Given the description of an element on the screen output the (x, y) to click on. 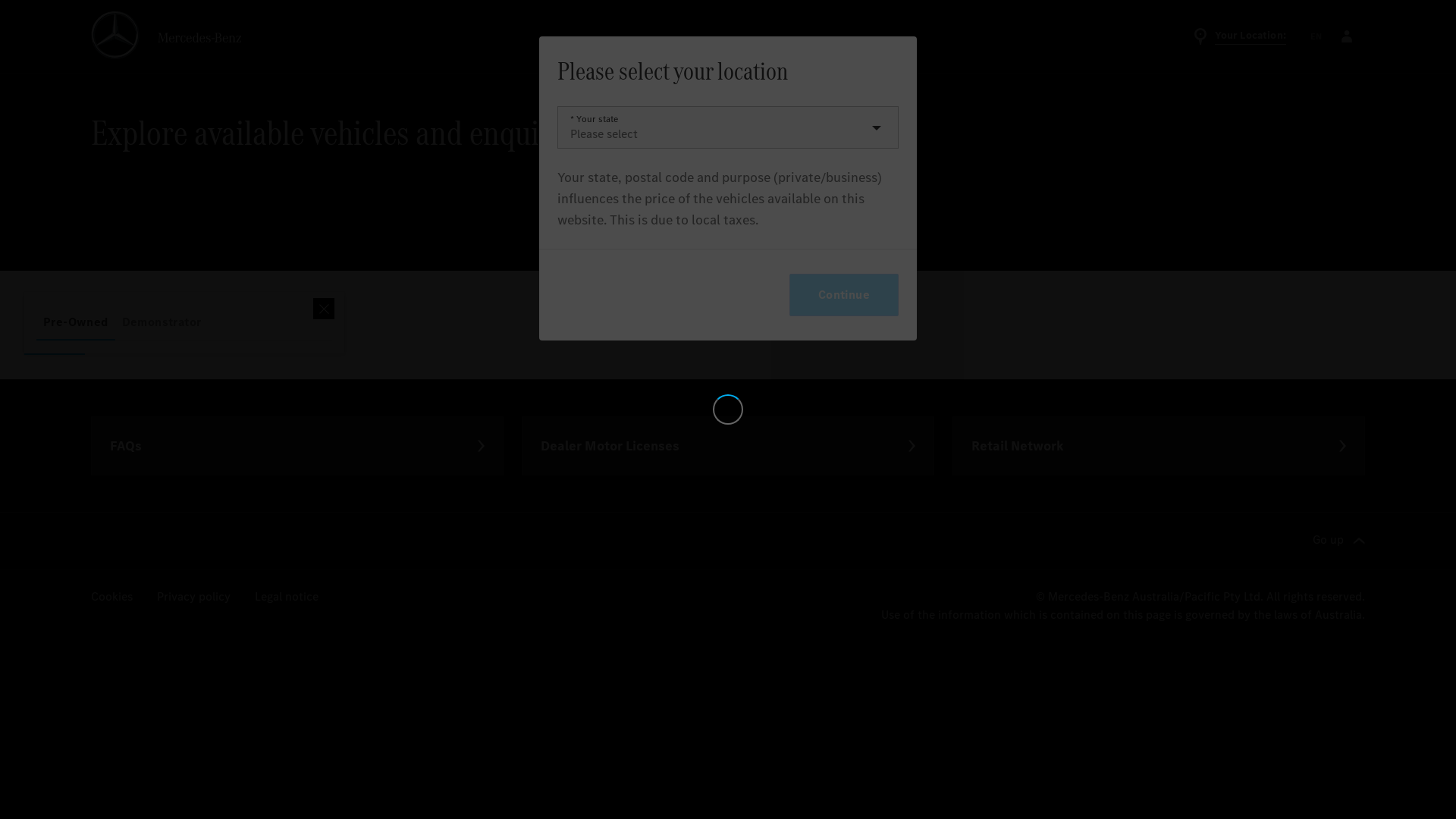
Privacy policy Element type: text (193, 537)
EN Element type: text (1316, 36)
Continue Element type: text (843, 294)
Your Location: Element type: text (1239, 36)
Go up Element type: text (1338, 481)
Cookies Element type: text (111, 537)
Legal notice Element type: text (286, 537)
